Given the description of an element on the screen output the (x, y) to click on. 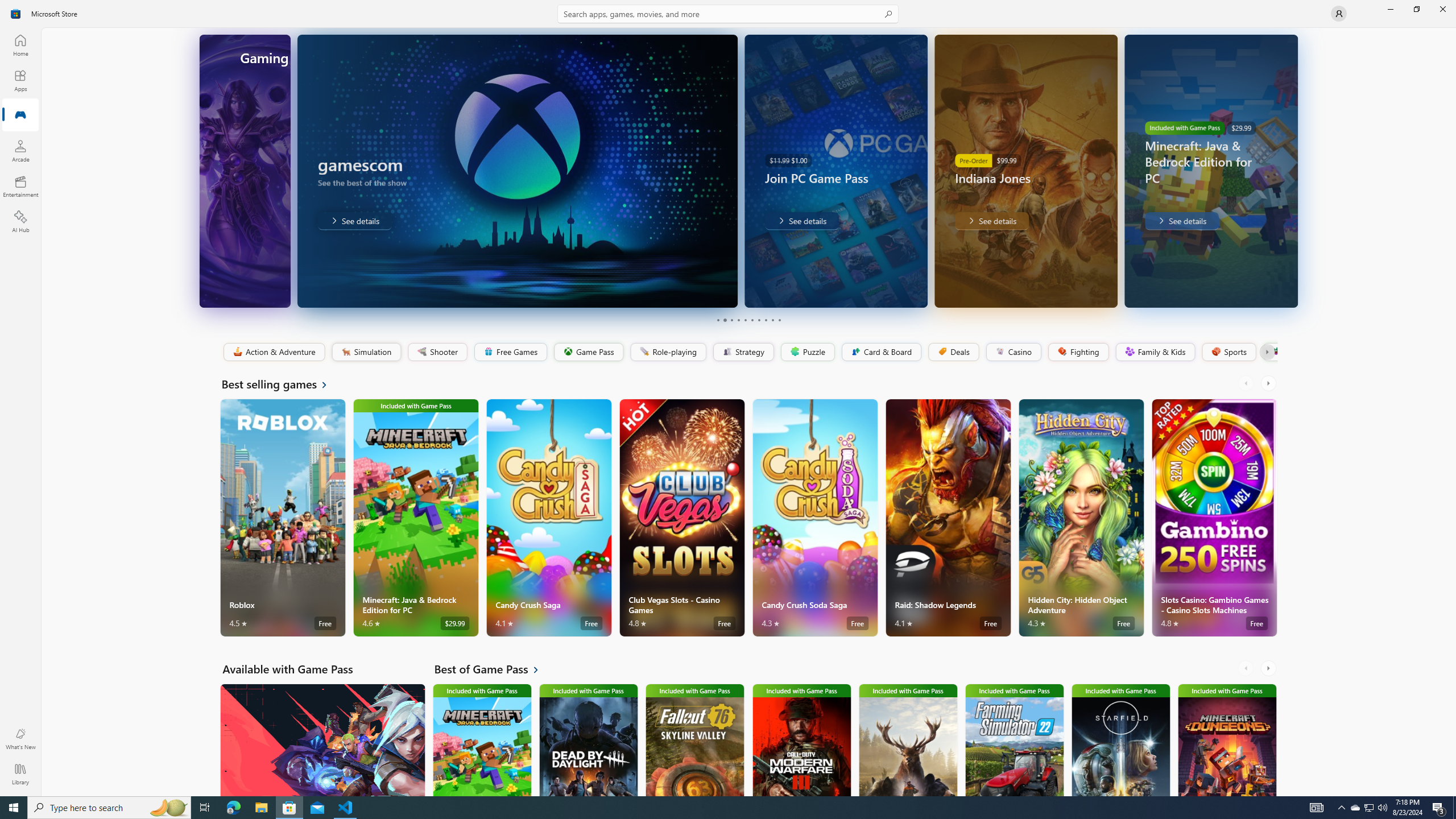
AutomationID: Image (1290, 170)
Role-playing (668, 352)
Strategy (742, 352)
Sports (1228, 352)
Gaming (20, 115)
AutomationID: RightScrollButton (1269, 668)
Family & Kids (1154, 352)
See all  Best of Game Pass (493, 668)
Search (727, 13)
AutomationID: LeftScrollButton (1246, 668)
